Given the description of an element on the screen output the (x, y) to click on. 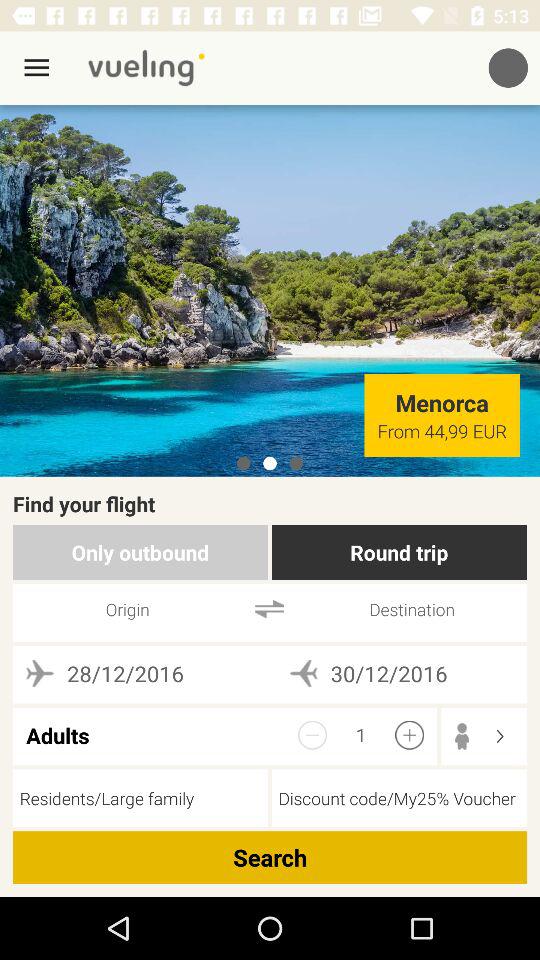
click item below find your flight item (398, 552)
